Given the description of an element on the screen output the (x, y) to click on. 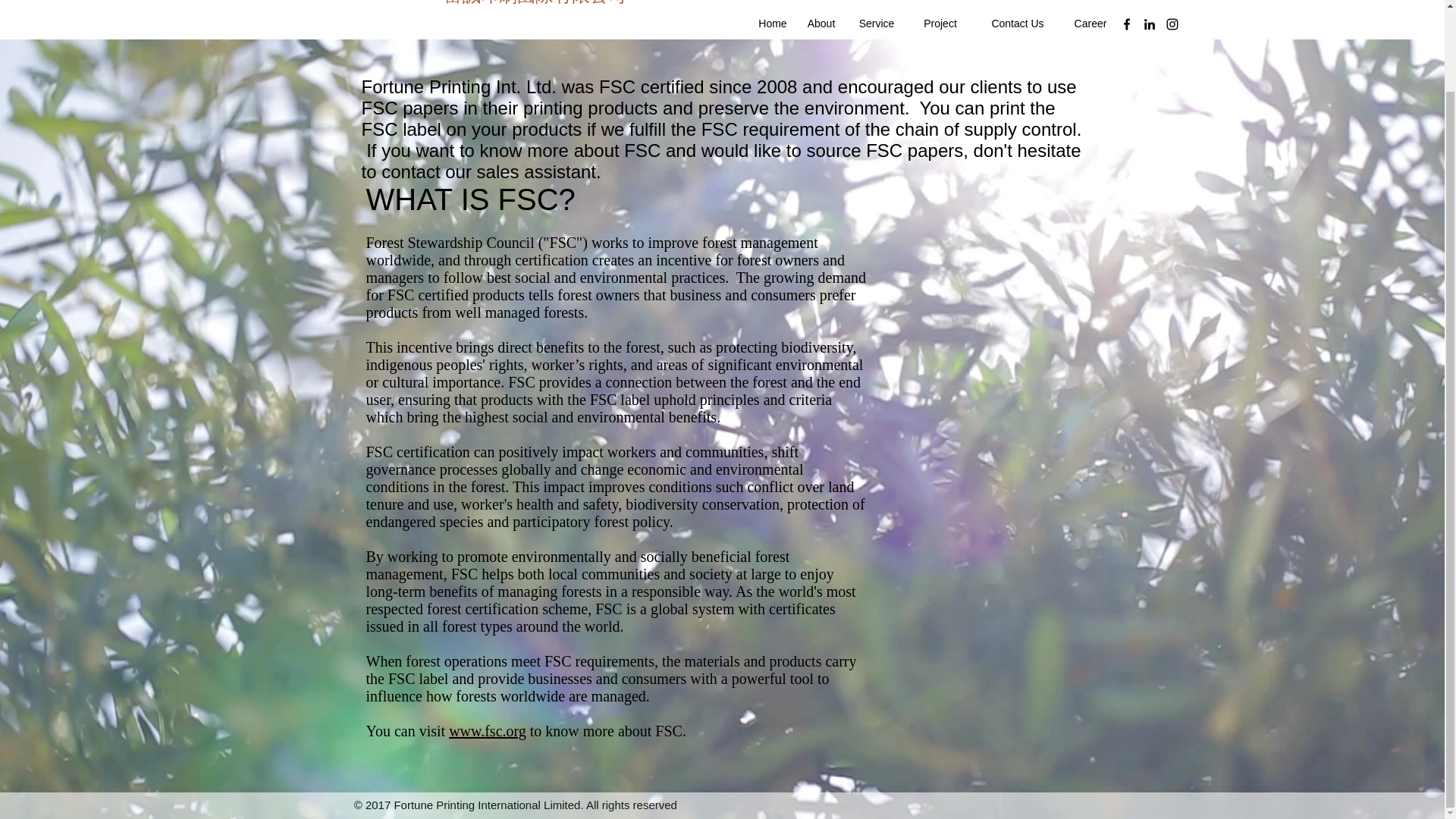
About (820, 24)
Project (939, 24)
Contact Us (1018, 24)
Service (876, 24)
www.fsc.org (486, 730)
Career (1089, 24)
Home (772, 24)
